Given the description of an element on the screen output the (x, y) to click on. 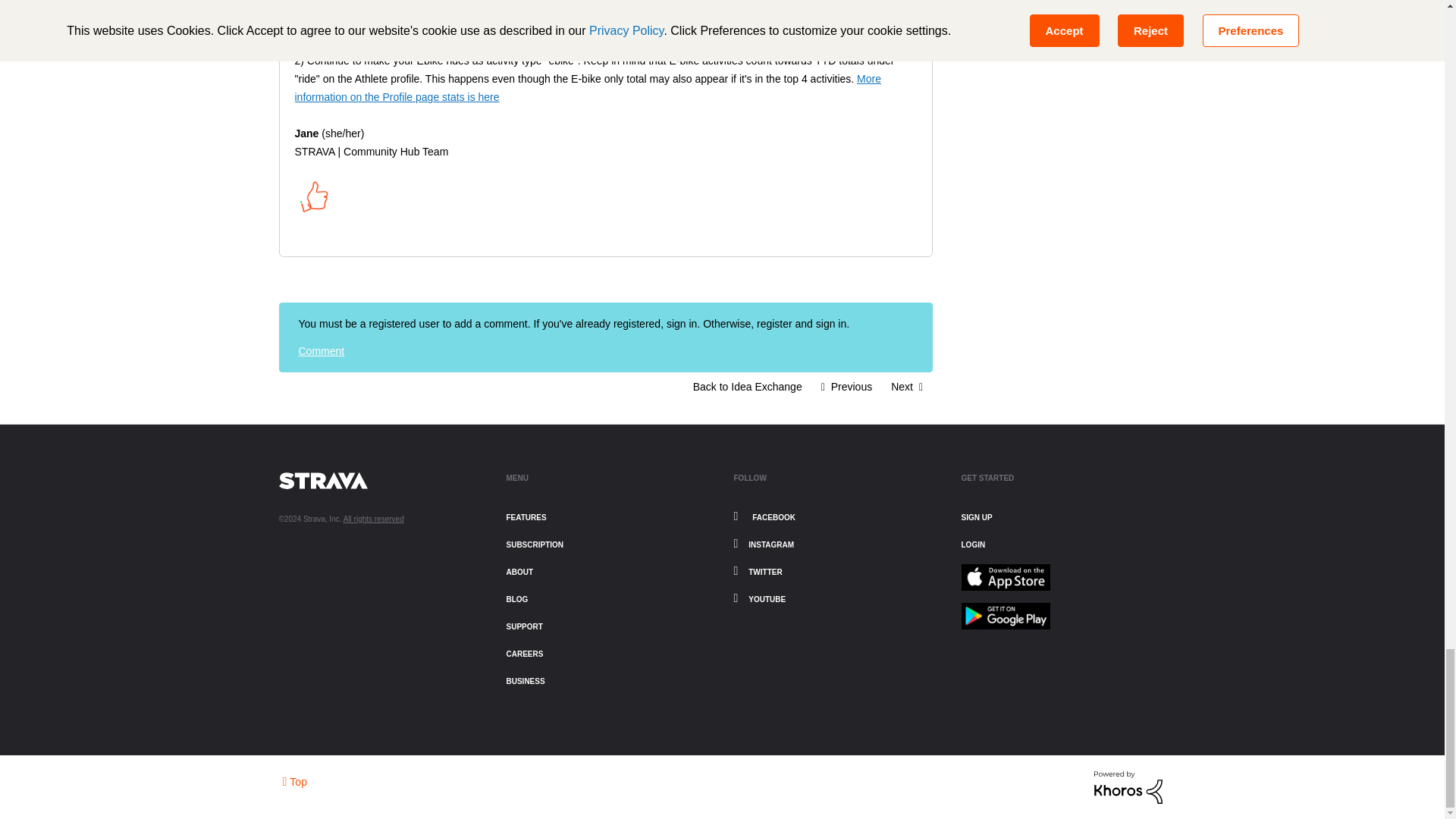
Top (293, 780)
Top (293, 780)
